Given the description of an element on the screen output the (x, y) to click on. 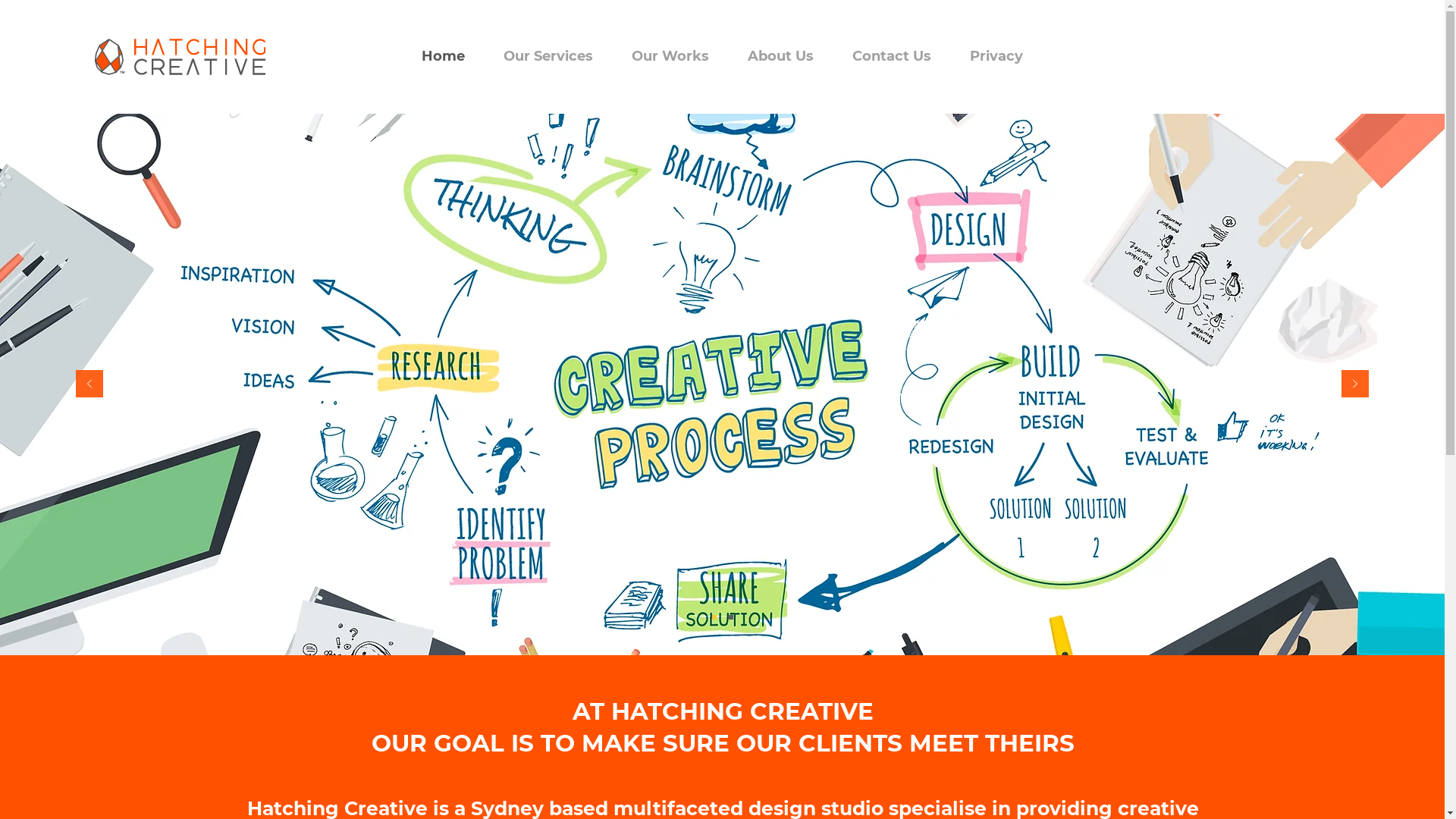
Our Works Element type: text (670, 56)
Home Element type: text (442, 56)
Privacy Element type: text (996, 56)
Contact Us Element type: text (891, 56)
Our Services Element type: text (547, 56)
About Us Element type: text (780, 56)
